Given the description of an element on the screen output the (x, y) to click on. 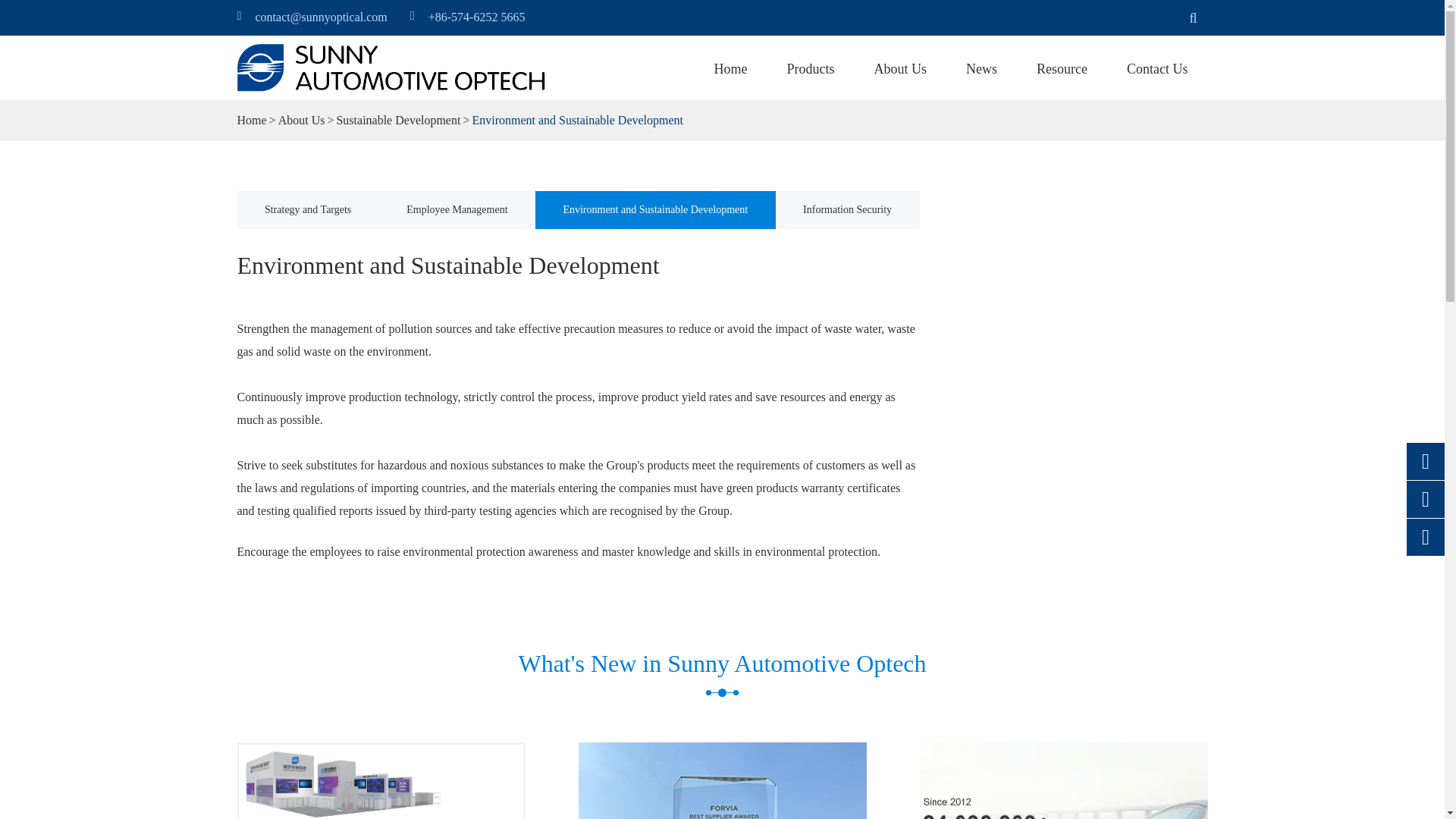
Sustainable Development (398, 120)
Home (730, 69)
Products (810, 69)
About Us (301, 120)
Ningbo Sunny Automotive Optech Co., Ltd (390, 67)
Environment and Sustainable Development (576, 120)
New Trend in Intelligent Driving: ADAS Hybrid Lens (1062, 780)
